Given the description of an element on the screen output the (x, y) to click on. 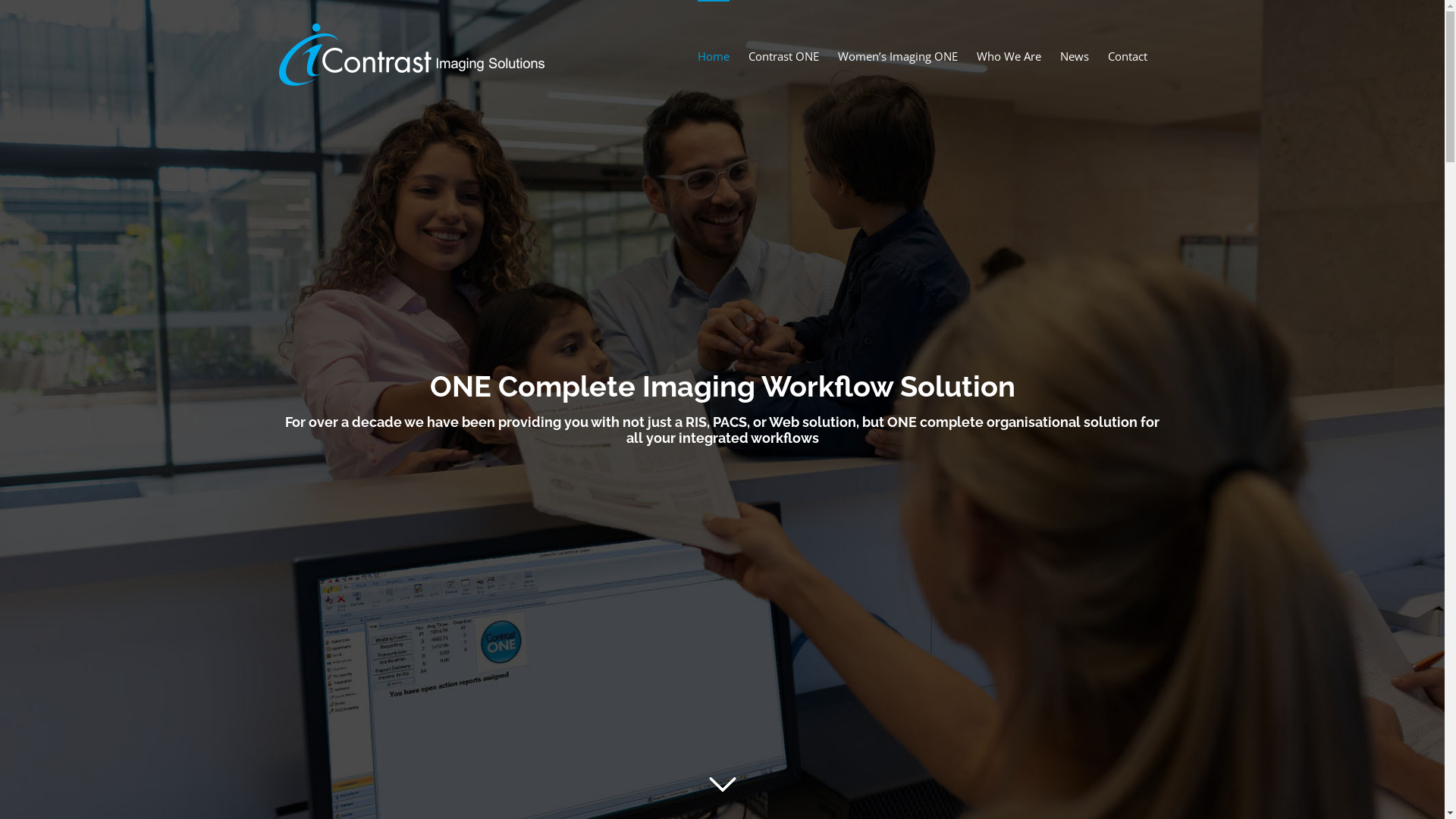
Contrast ONE Element type: text (782, 47)
Who We Are Element type: text (1008, 47)
Home Element type: text (713, 47)
Contact Element type: text (1126, 47)
News Element type: text (1074, 47)
